Given the description of an element on the screen output the (x, y) to click on. 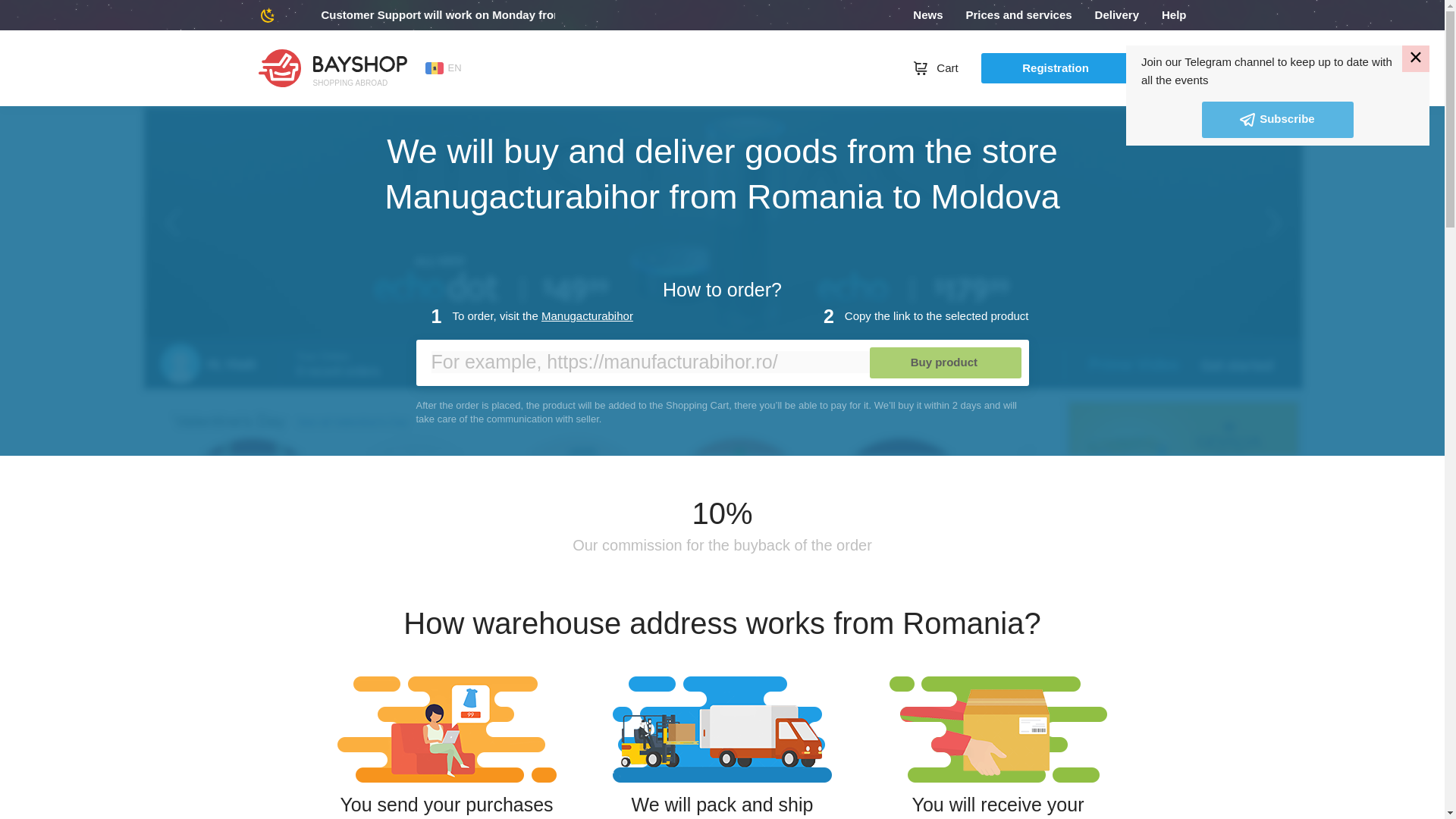
Manugacturabihor online shop in Moldova (587, 315)
News (927, 15)
Cart (935, 67)
Subscribe (1278, 119)
Registration (1056, 68)
Prices and services (1018, 15)
EN (443, 68)
Delivery (1116, 15)
Login (1171, 67)
SHOPPING ABROAD (333, 67)
